Given the description of an element on the screen output the (x, y) to click on. 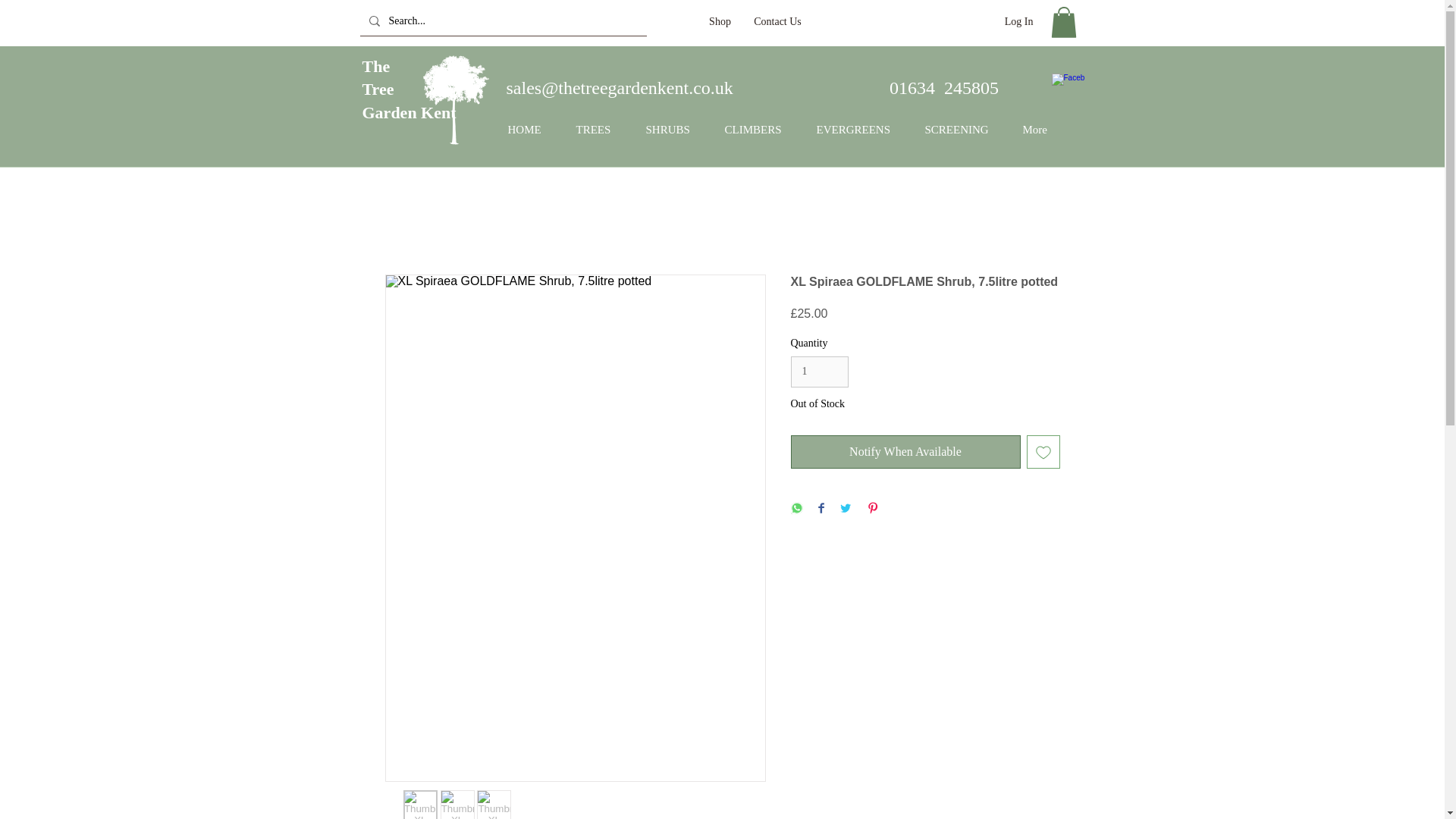
Shop (409, 89)
CLIMBERS (719, 21)
HOME (759, 129)
SCREENING (530, 129)
TREES (961, 129)
1 (598, 129)
Contact Us (818, 371)
Log In (777, 21)
SHRUBS (1018, 21)
